Given the description of an element on the screen output the (x, y) to click on. 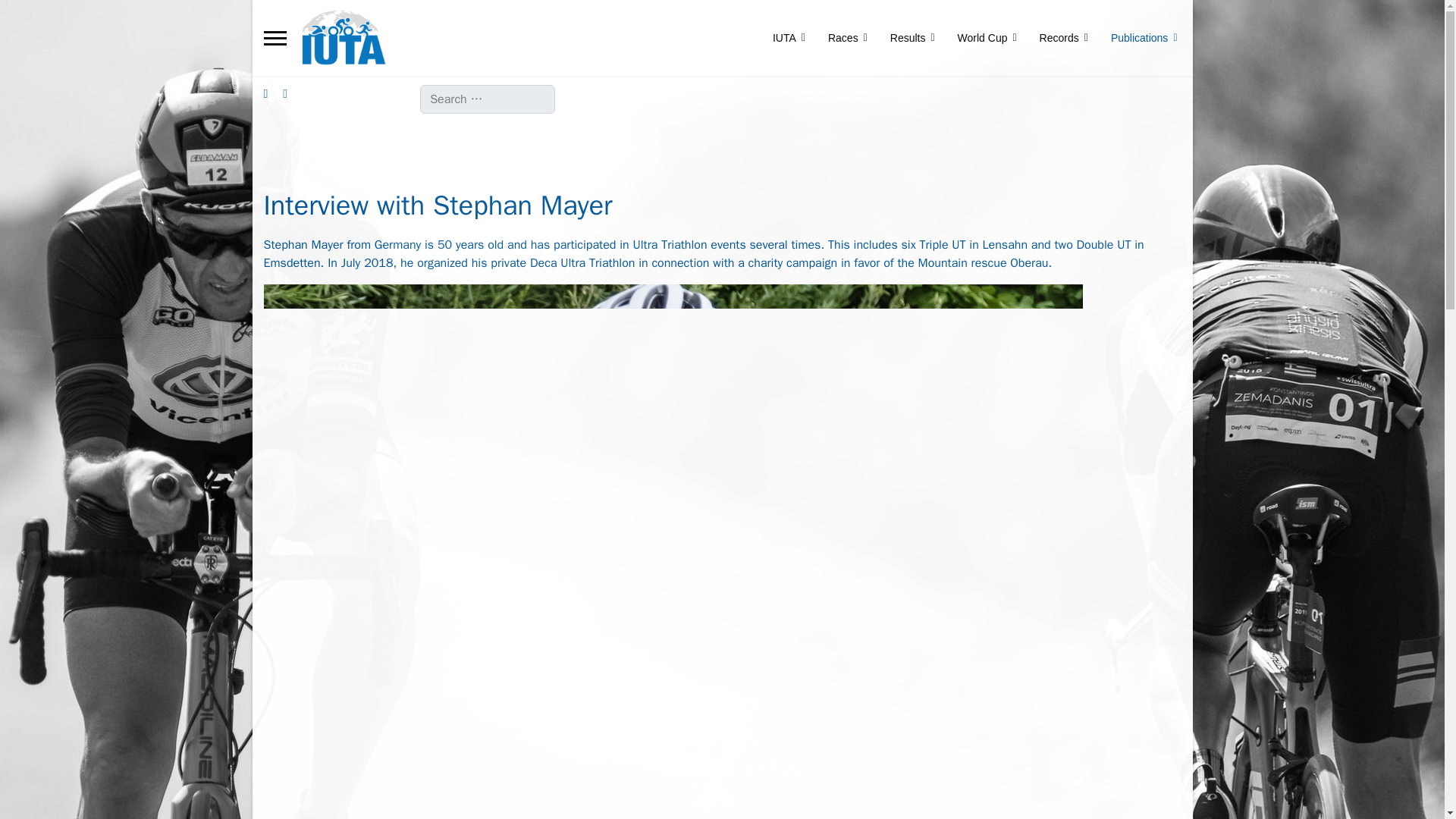
World Cup (986, 38)
Results (912, 38)
